Given the description of an element on the screen output the (x, y) to click on. 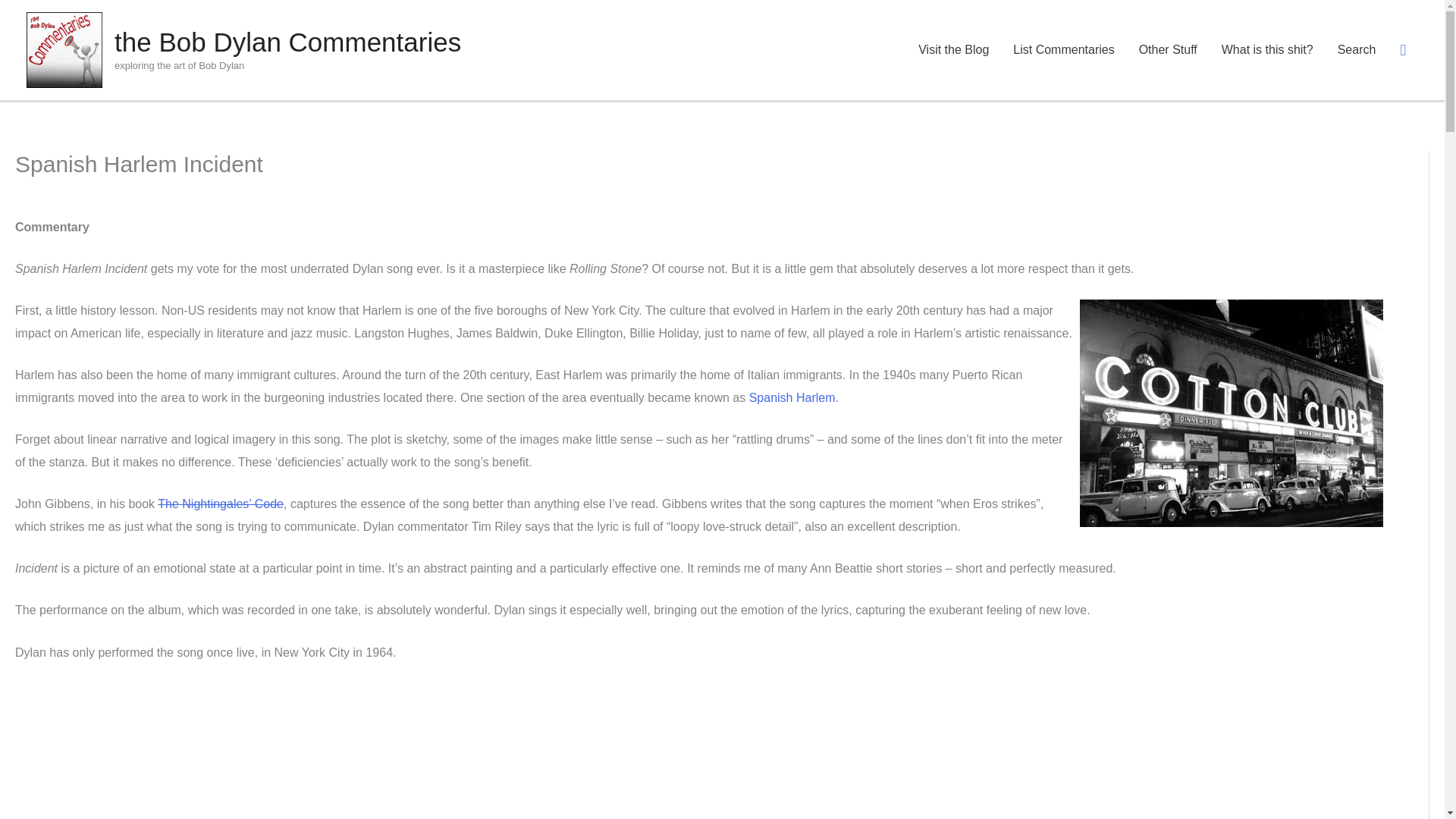
Other Stuff (1167, 35)
the Bob Dylan Commentaries (382, 27)
Search (48, 28)
List Commentaries (1063, 35)
What is this shit? (1266, 35)
Spanish Harlem (792, 367)
The Nightingale's Code (220, 474)
Visit the Blog (953, 35)
Spanish Harlem (792, 367)
